Given the description of an element on the screen output the (x, y) to click on. 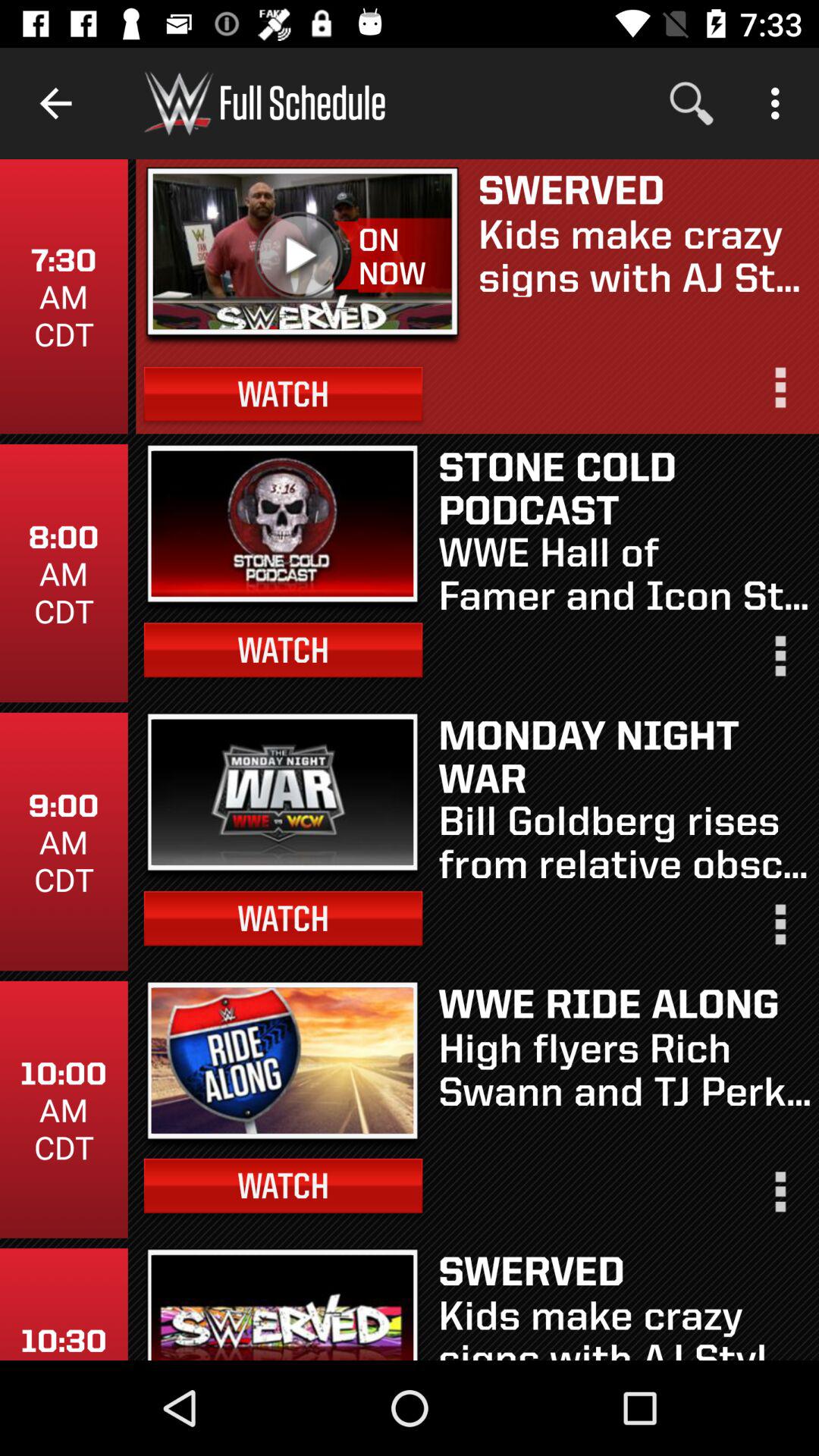
select the item above the swerved icon (691, 103)
